Given the description of an element on the screen output the (x, y) to click on. 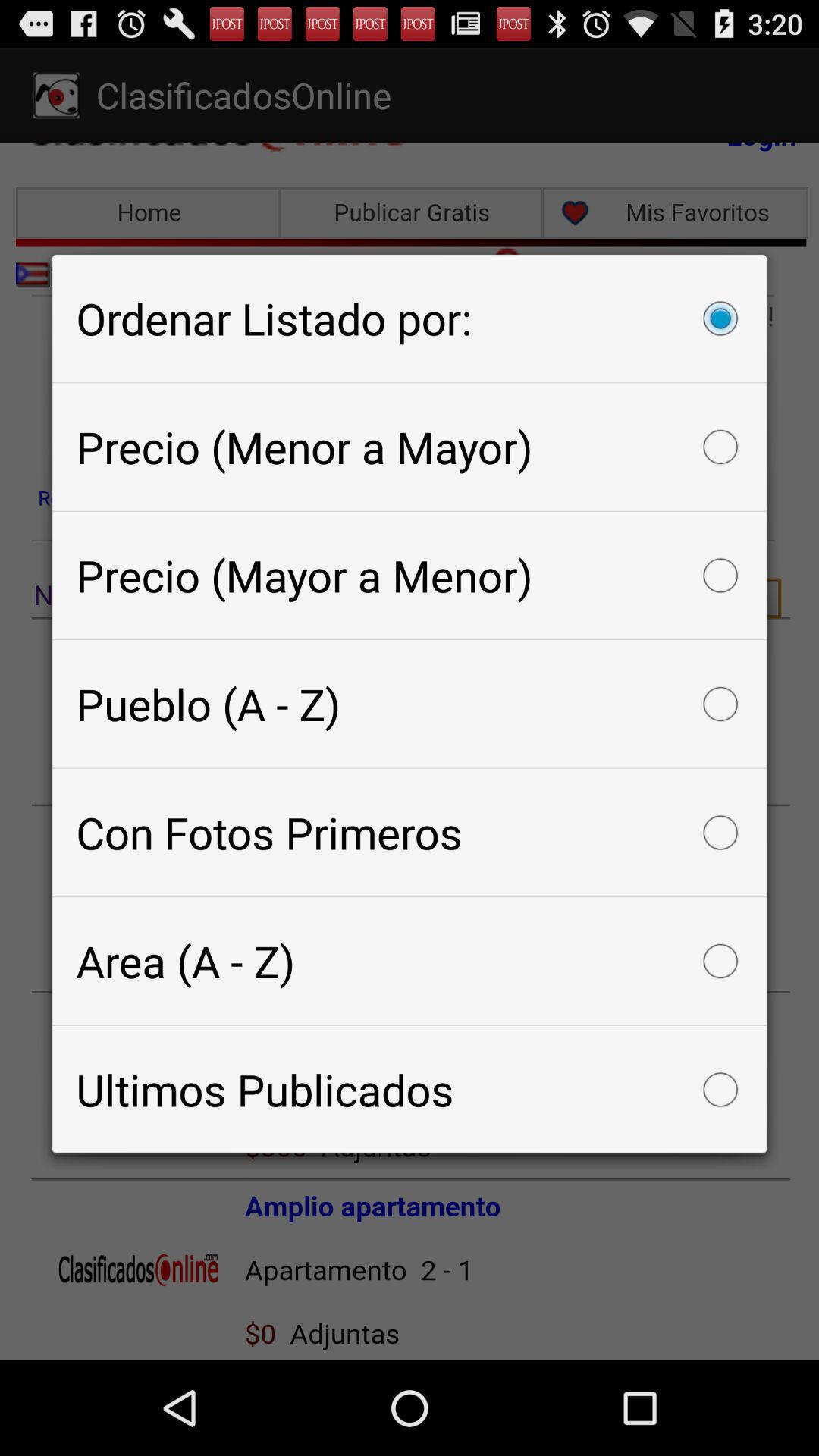
flip until ordenar listado por: icon (409, 318)
